Given the description of an element on the screen output the (x, y) to click on. 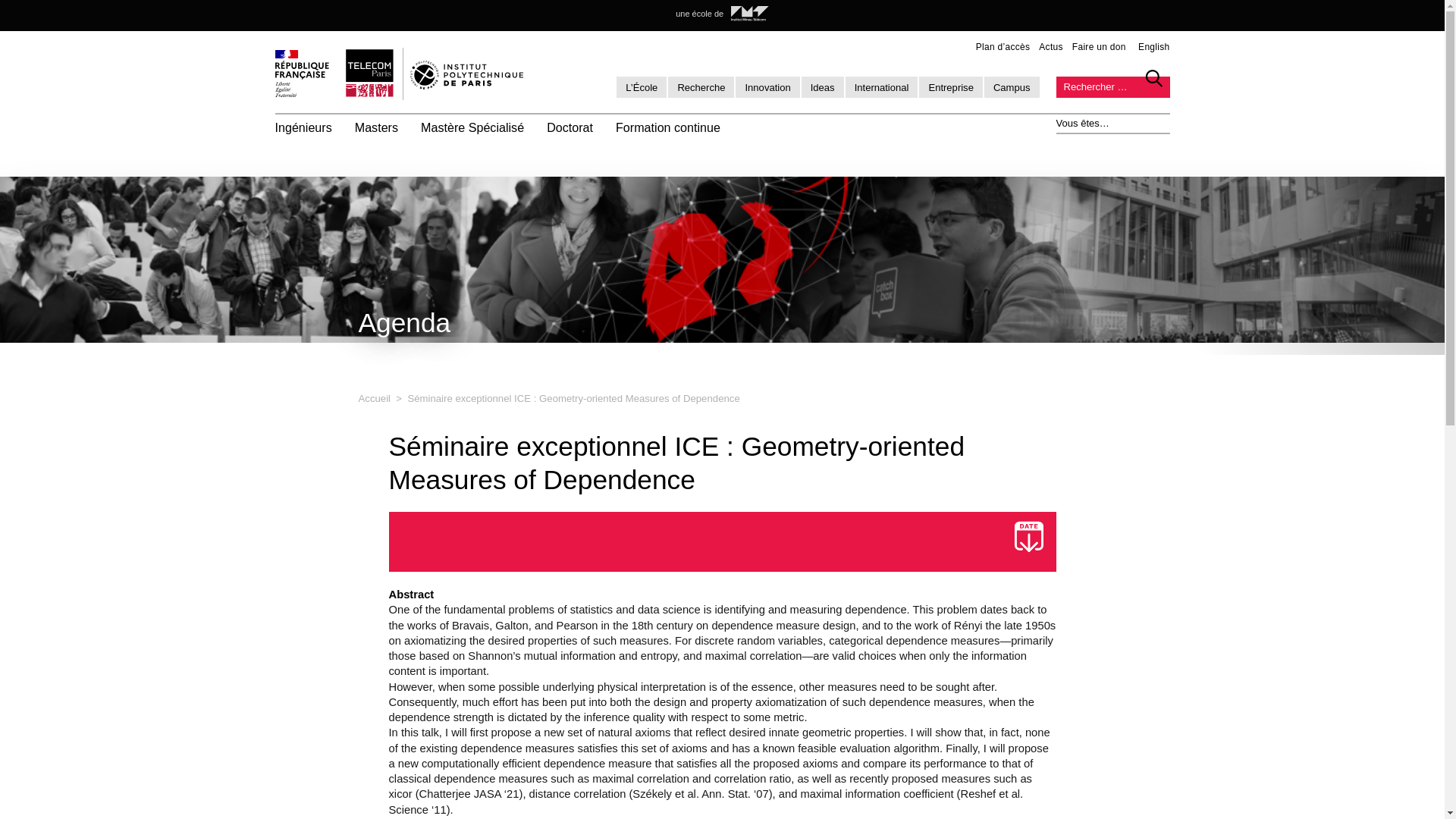
English (1153, 46)
Actus (1050, 46)
English (1153, 46)
Faire un don (1098, 46)
Faire un don (1098, 46)
